Given the description of an element on the screen output the (x, y) to click on. 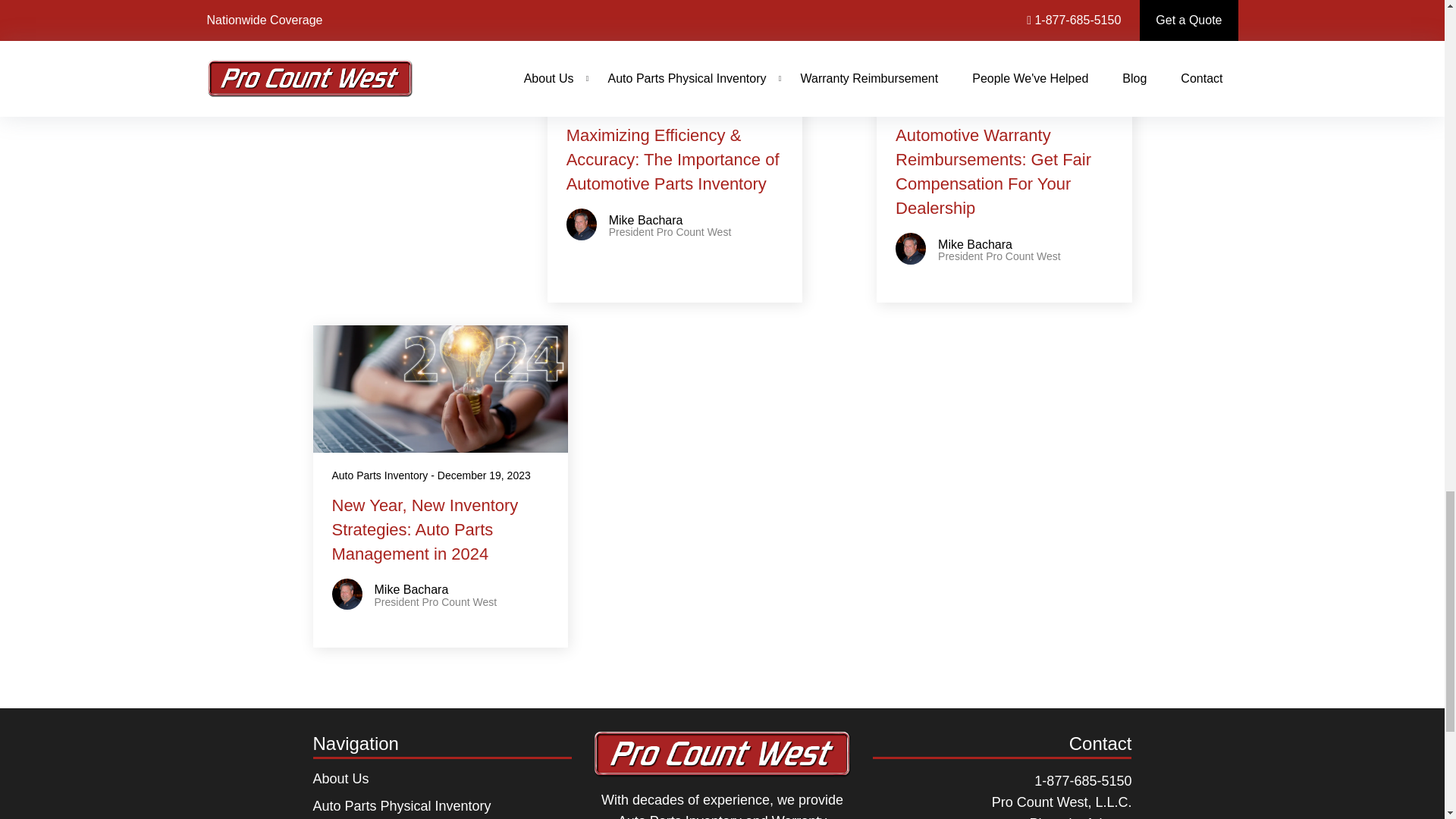
Pro Count West (721, 760)
